Given the description of an element on the screen output the (x, y) to click on. 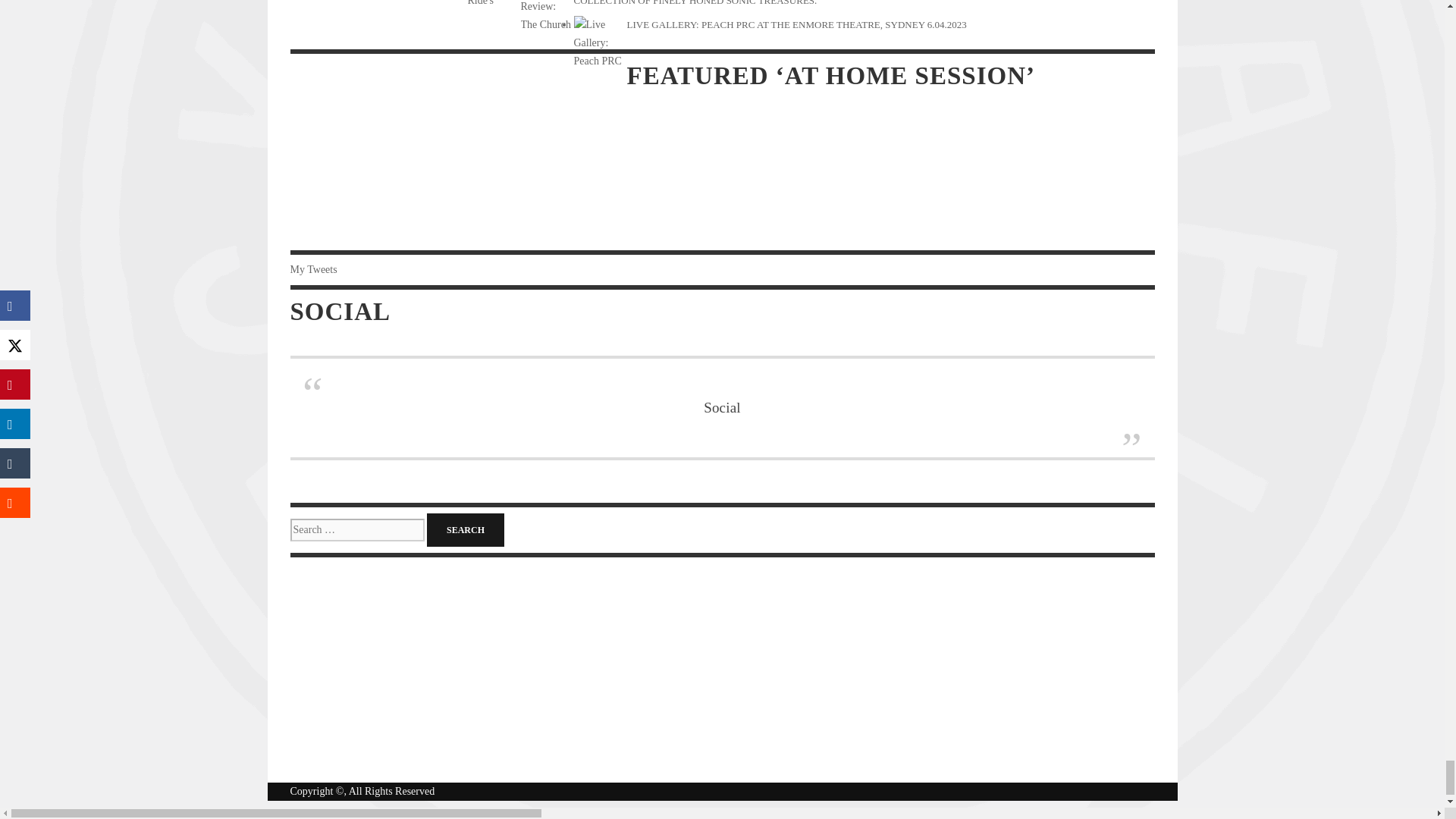
Search (464, 530)
Search (464, 530)
